Given the description of an element on the screen output the (x, y) to click on. 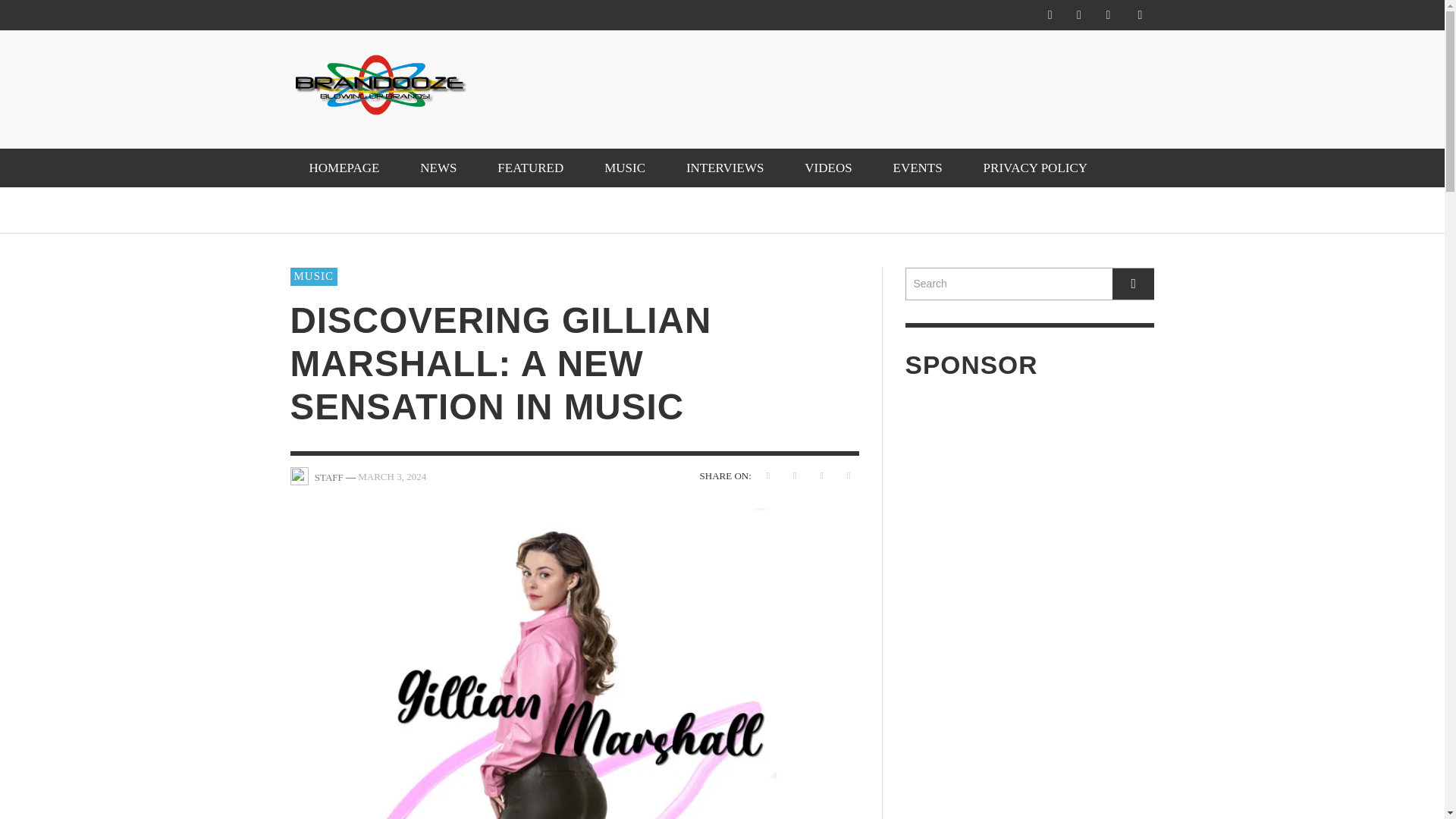
Twitter (1107, 15)
FEATURED (530, 167)
Facebook (1049, 15)
MUSIC (624, 167)
HOMEPAGE (343, 167)
Search (1029, 283)
NEWS (438, 167)
